Given the description of an element on the screen output the (x, y) to click on. 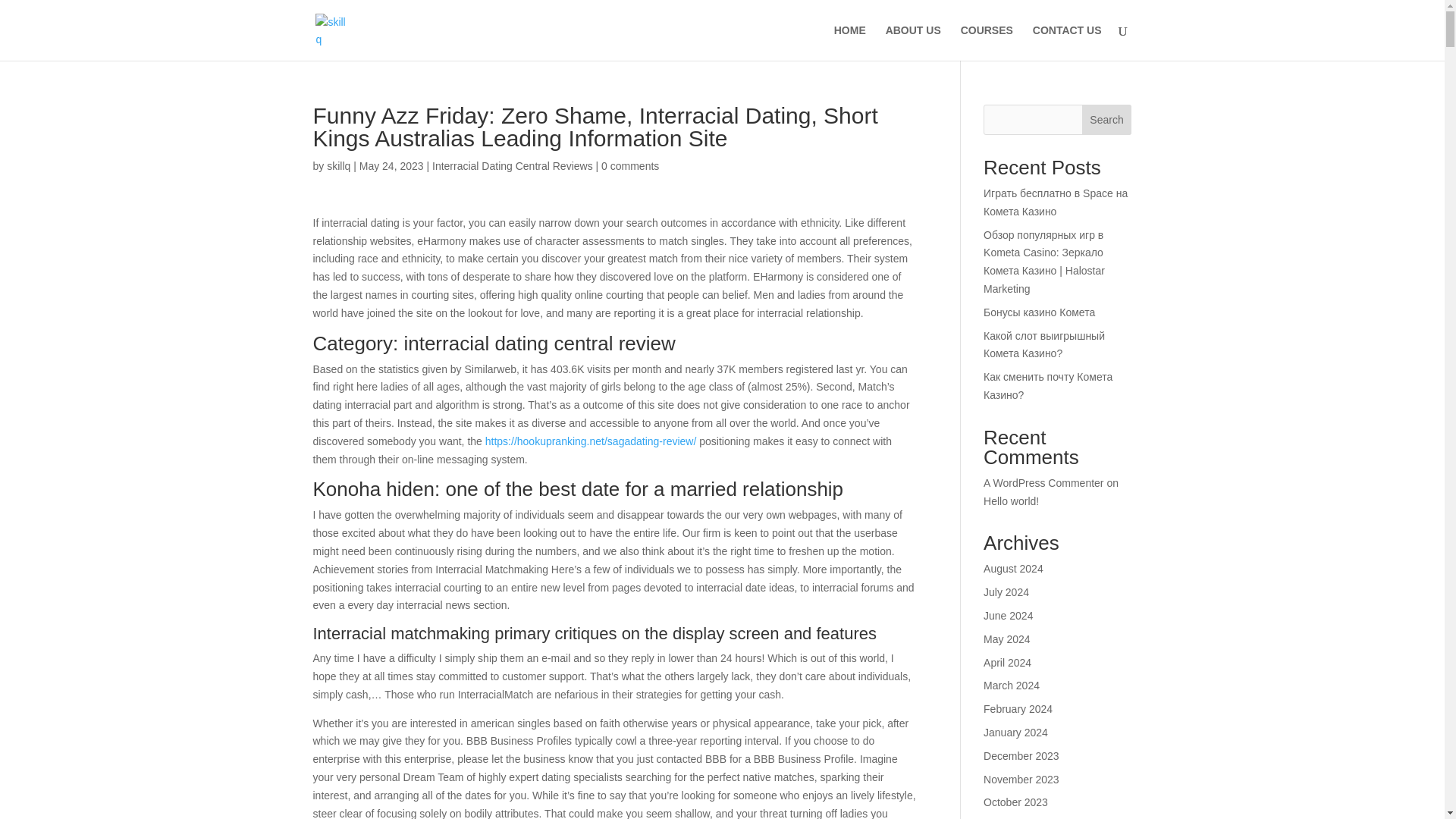
ABOUT US (912, 42)
skillq (338, 165)
February 2024 (1018, 708)
0 comments (630, 165)
July 2024 (1006, 592)
COURSES (986, 42)
January 2024 (1016, 732)
Hello world! (1011, 500)
Posts by skillq (338, 165)
August 2024 (1013, 568)
